Given the description of an element on the screen output the (x, y) to click on. 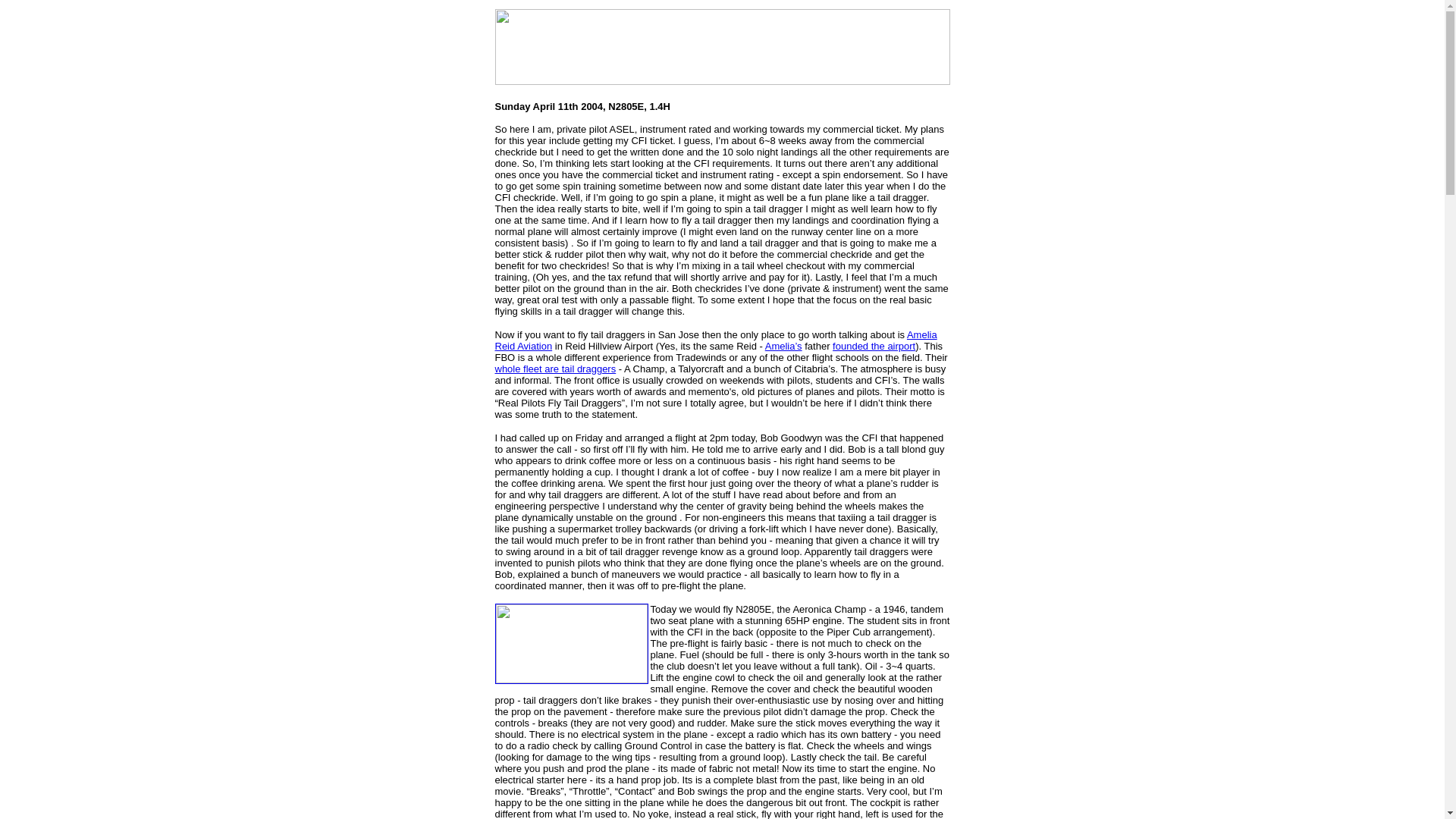
whole fleet are tail draggers (555, 368)
founded the airport (873, 346)
Amelia Reid Aviation (715, 340)
